Given the description of an element on the screen output the (x, y) to click on. 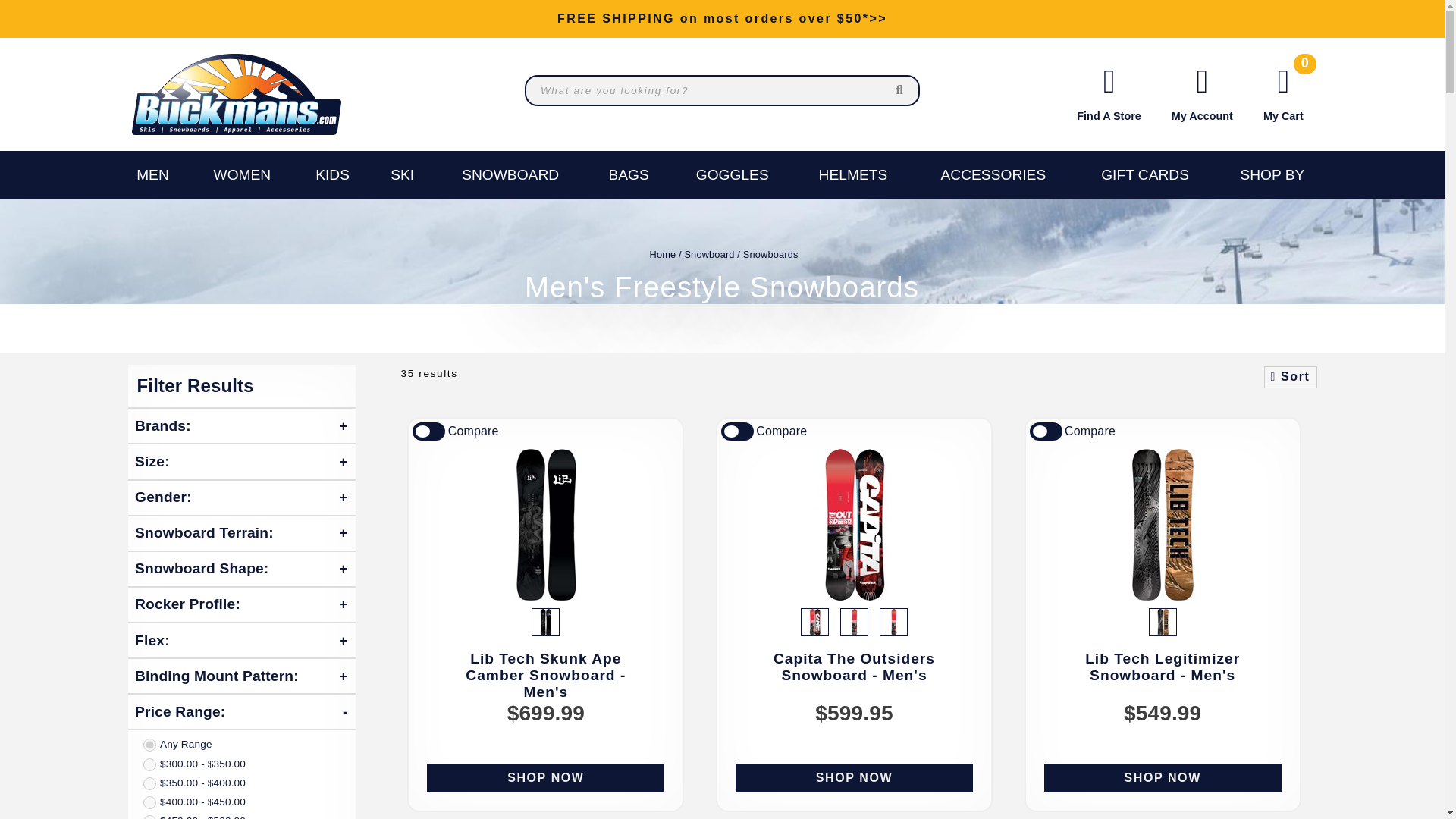
My Account (1202, 93)
156 (893, 622)
Search (900, 90)
152 (814, 622)
Any Range (148, 744)
MEN (152, 174)
154 (853, 622)
Find A Store (1109, 93)
